Given the description of an element on the screen output the (x, y) to click on. 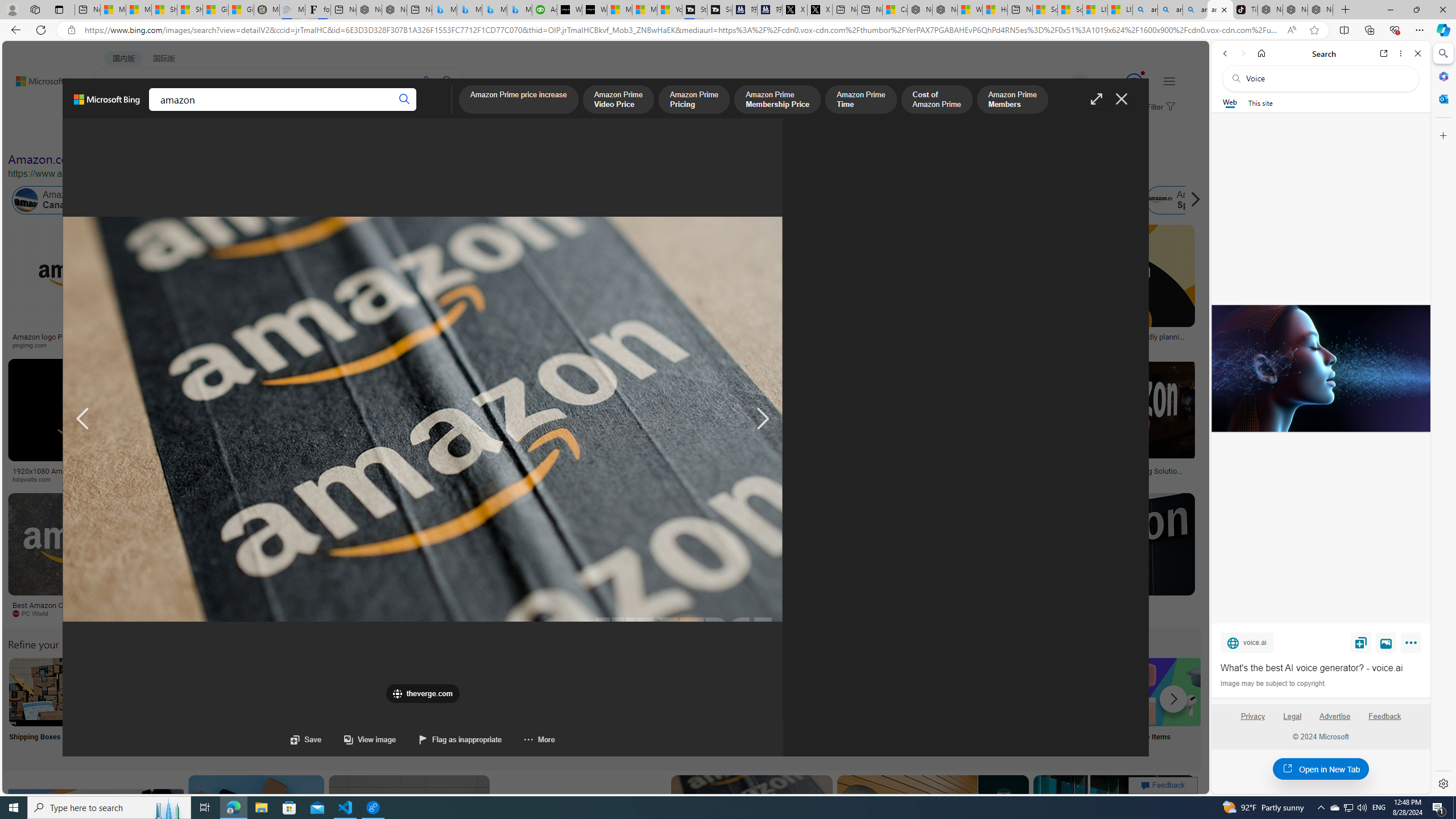
mytotalretail.com (224, 344)
Amazon Animals (426, 199)
Amazon Package Delivery Package Delivery (418, 706)
Layout (252, 135)
Amazon Forest (999, 200)
Microsoft Bing Travel - Stays in Bangkok, Bangkok, Thailand (469, 9)
Close image (1121, 99)
amazon - Search (1170, 9)
Alexa Smart Home Devices (673, 332)
Amazon Kids (239, 200)
Log into My Account (268, 706)
